Given the description of an element on the screen output the (x, y) to click on. 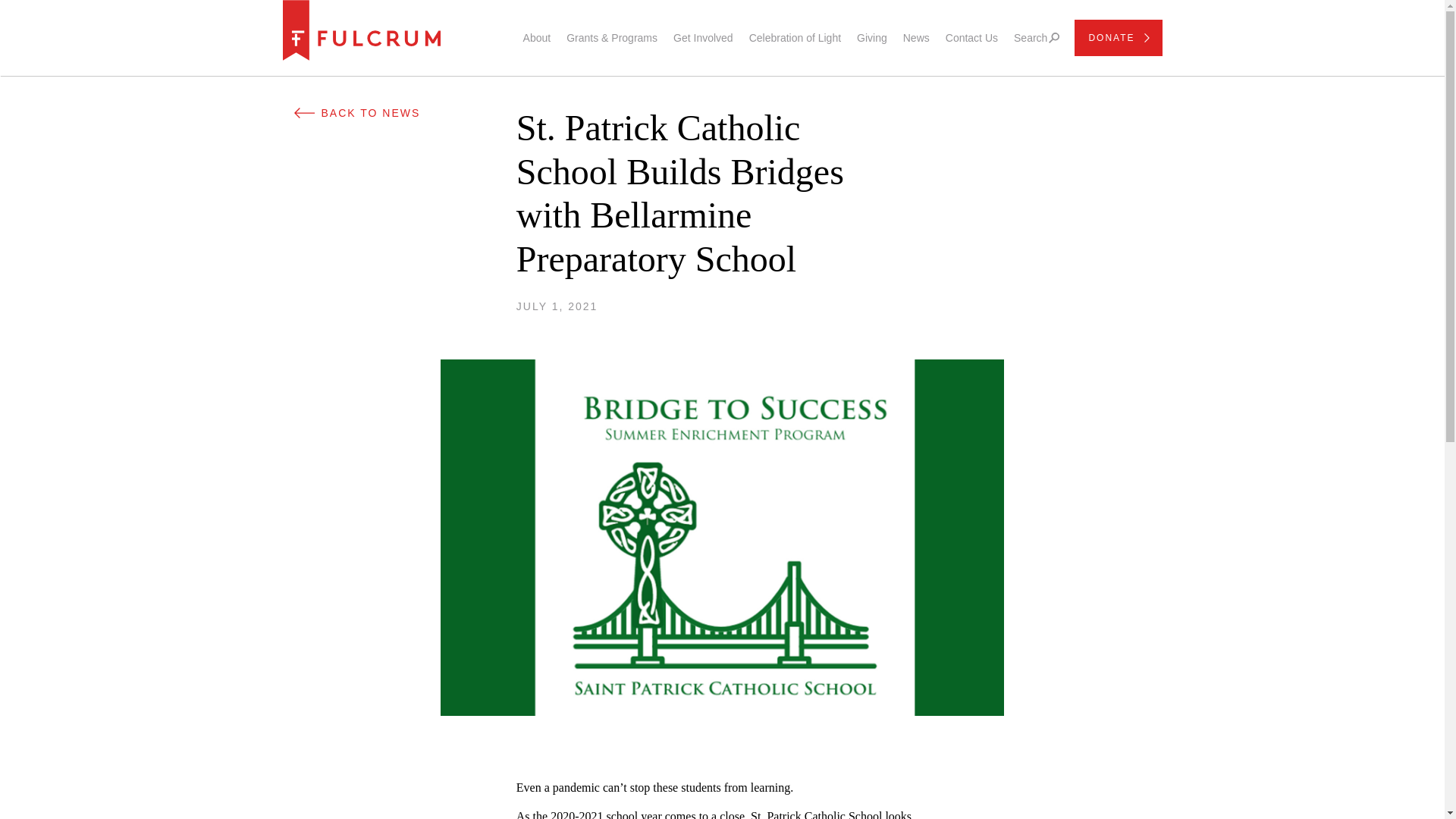
Get Involved (703, 38)
Get Involved (703, 38)
Celebration of Light (794, 38)
Contact Us (971, 38)
DONATE (1117, 37)
